Given the description of an element on the screen output the (x, y) to click on. 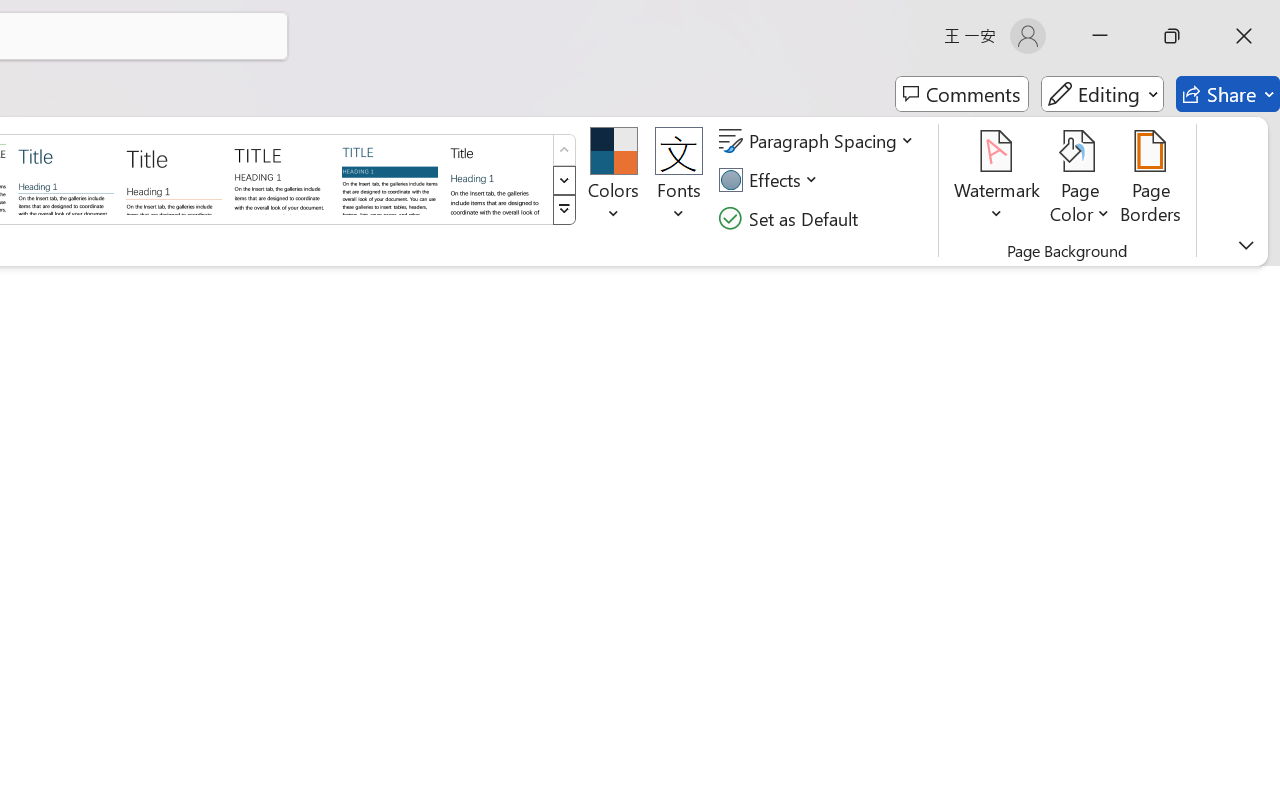
Row Down (564, 180)
Set as Default (791, 218)
Ribbon Display Options (1246, 245)
Style Set (564, 209)
Comments (961, 94)
Restore Down (1172, 36)
Close (1244, 36)
Fonts (678, 179)
Lines (Simple) (65, 178)
Class: NetUIImage (564, 210)
Minimalist (281, 178)
Effects (771, 179)
Page Color (1080, 179)
Word (497, 178)
